Given the description of an element on the screen output the (x, y) to click on. 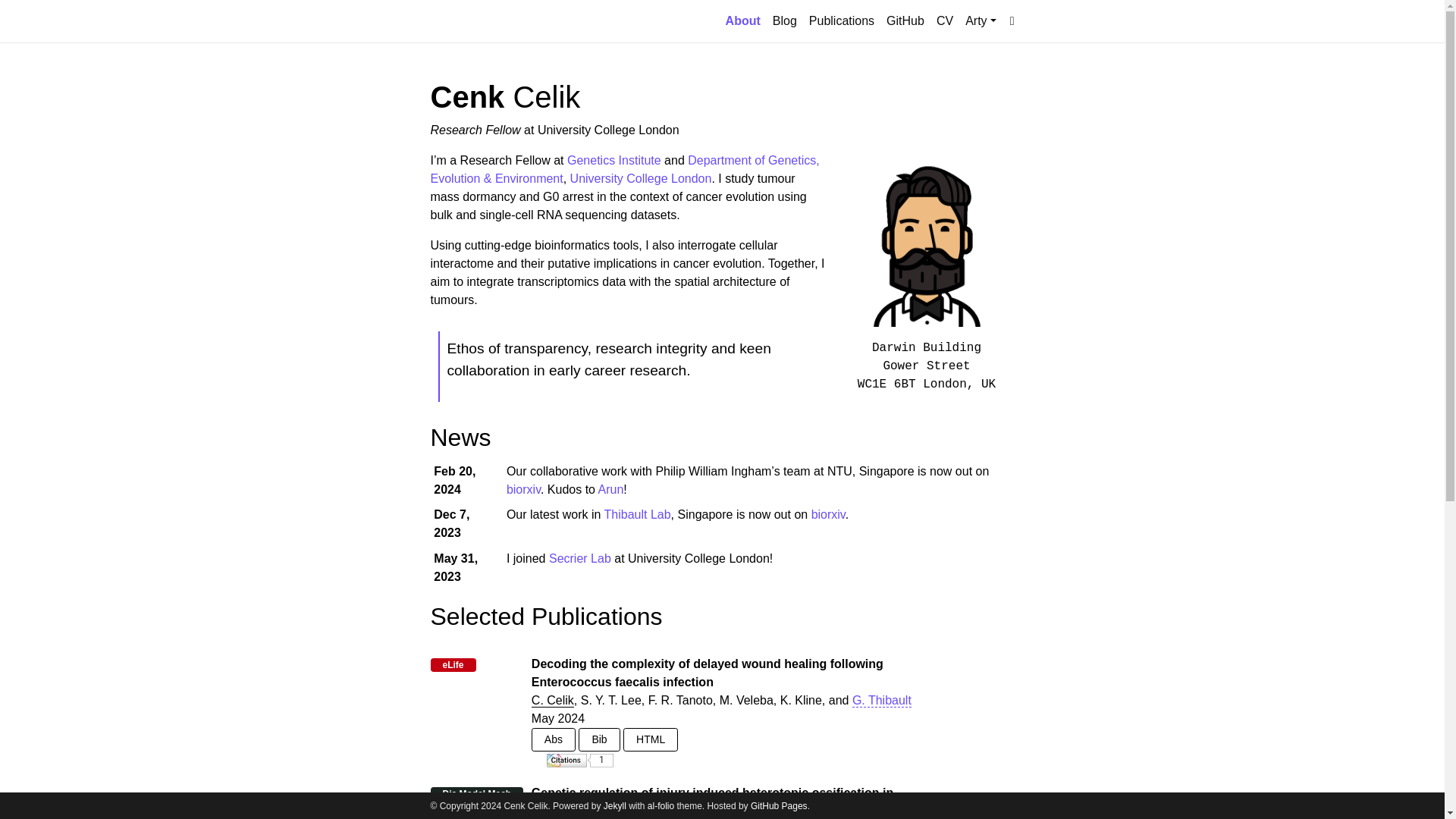
Arty (981, 20)
1 (579, 759)
Arun (611, 489)
News (461, 437)
Secrier Lab (579, 558)
G. Thibault (881, 700)
Genetics Institute (614, 160)
Publications (841, 20)
Selected Publications (546, 615)
GitHub (905, 20)
